Given the description of an element on the screen output the (x, y) to click on. 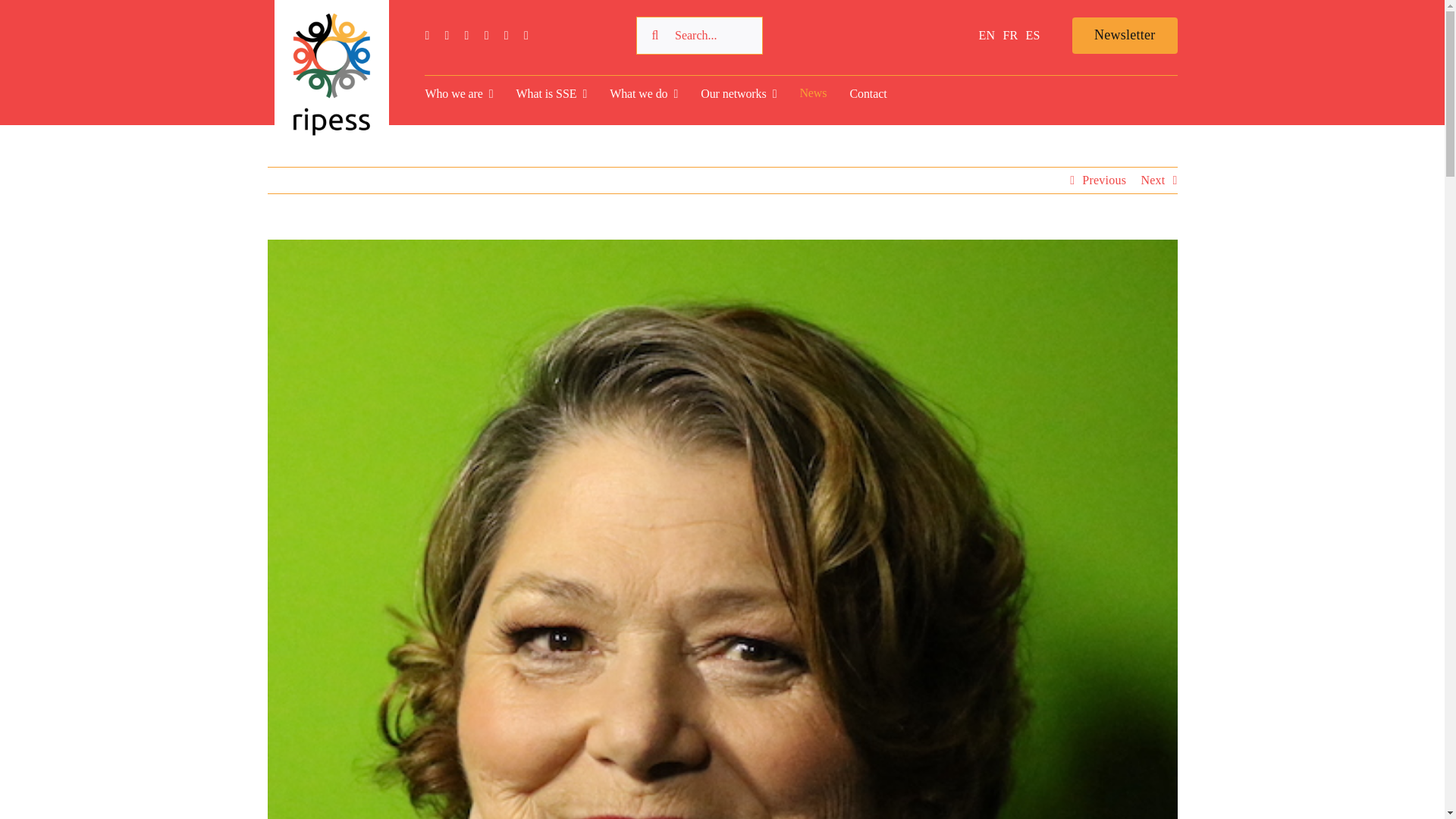
Who we are (459, 90)
FR (1010, 35)
X (447, 35)
EN (986, 35)
Newsletter (1124, 35)
YouTube (486, 35)
ES (1032, 35)
Our networks (738, 90)
FR (1010, 35)
Instagram (466, 35)
Facebook (427, 35)
ES (1032, 35)
LinkedIn (505, 35)
EN (986, 35)
Email (526, 35)
